Given the description of an element on the screen output the (x, y) to click on. 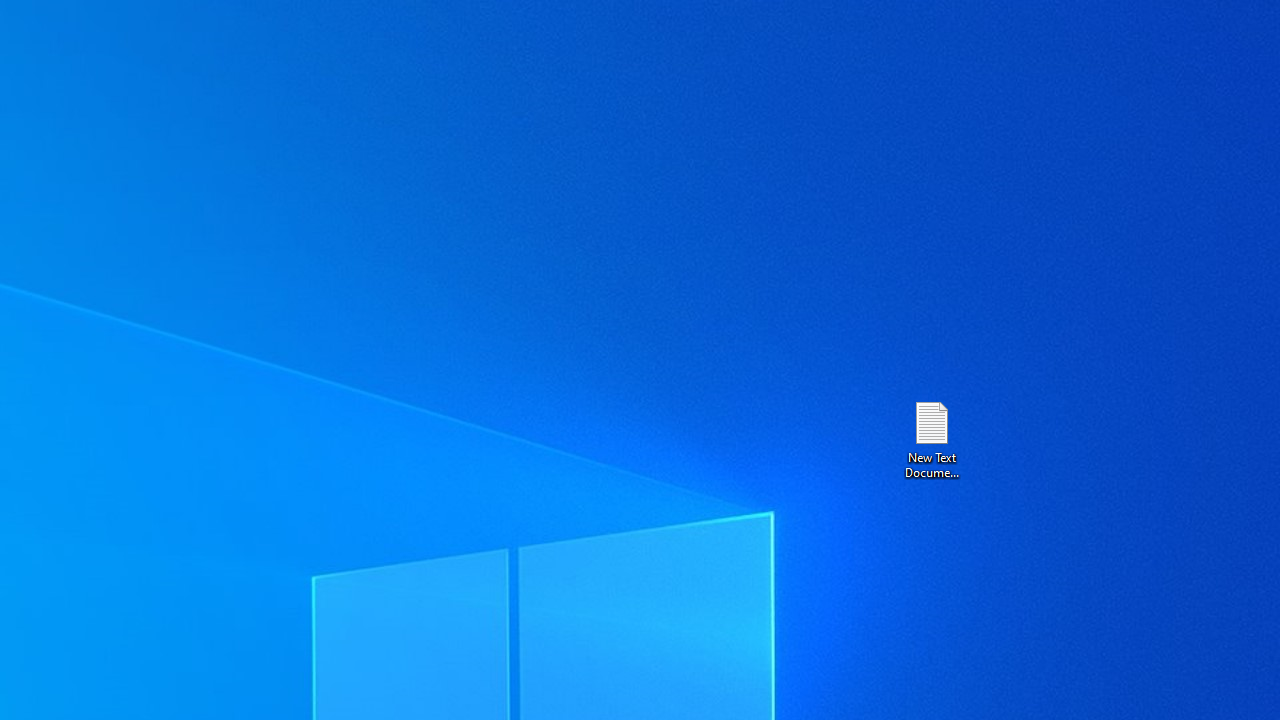
New Text Document (2) (931, 438)
